Given the description of an element on the screen output the (x, y) to click on. 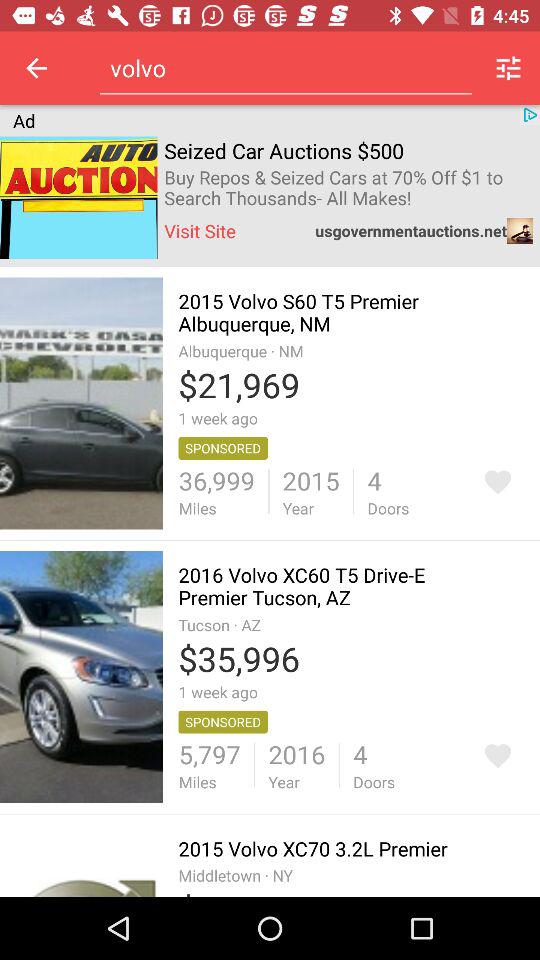
press item below the seized car auctions icon (348, 188)
